Given the description of an element on the screen output the (x, y) to click on. 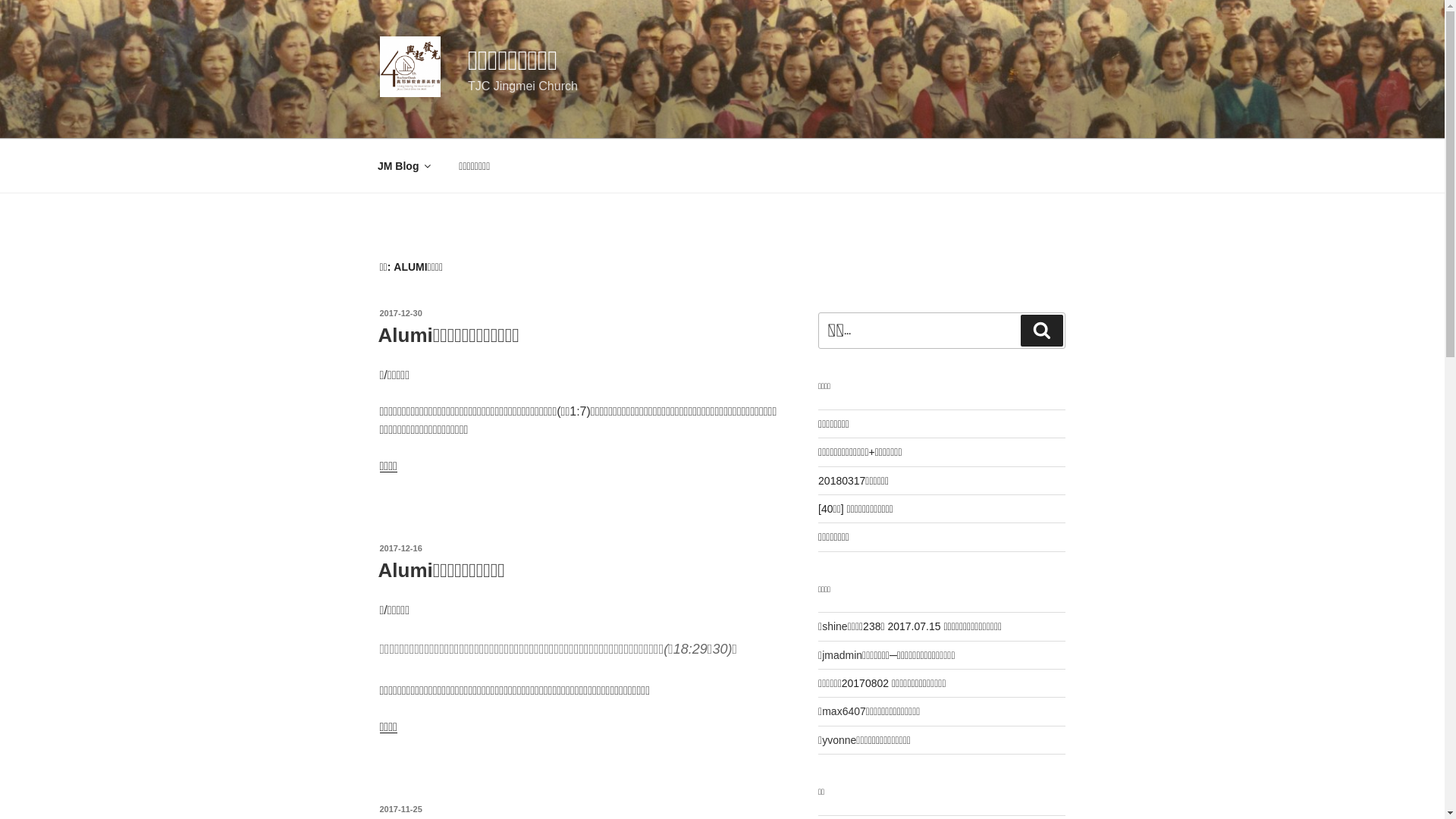
2017-12-30 Element type: text (400, 312)
2017-11-25 Element type: text (400, 808)
2017-12-16 Element type: text (400, 547)
JM Blog Element type: text (403, 165)
